Given the description of an element on the screen output the (x, y) to click on. 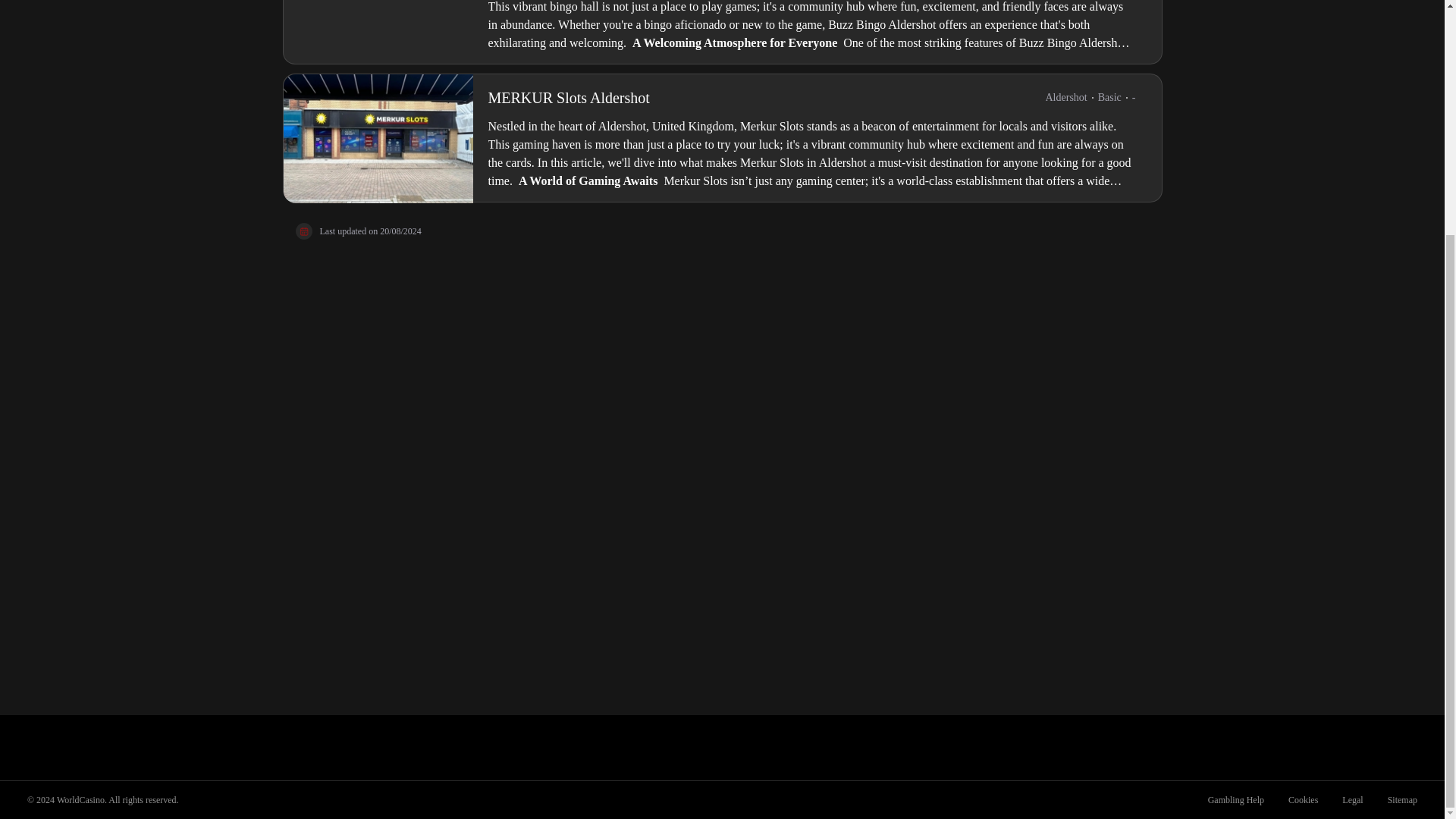
Gambling Help (1235, 799)
Sitemap (1402, 799)
Cookies (1303, 799)
Legal (1352, 799)
